Given the description of an element on the screen output the (x, y) to click on. 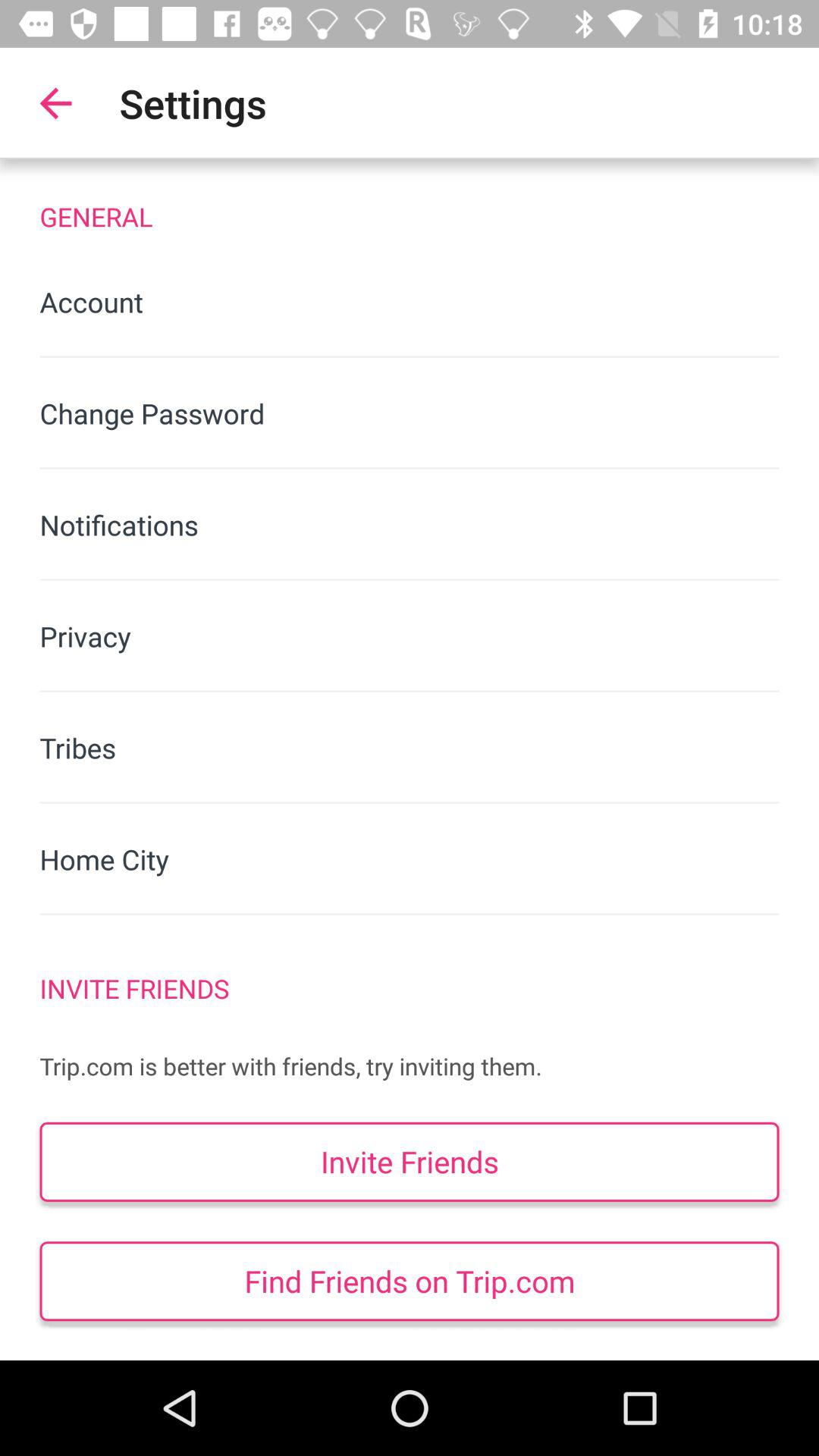
tap home city item (409, 859)
